Given the description of an element on the screen output the (x, y) to click on. 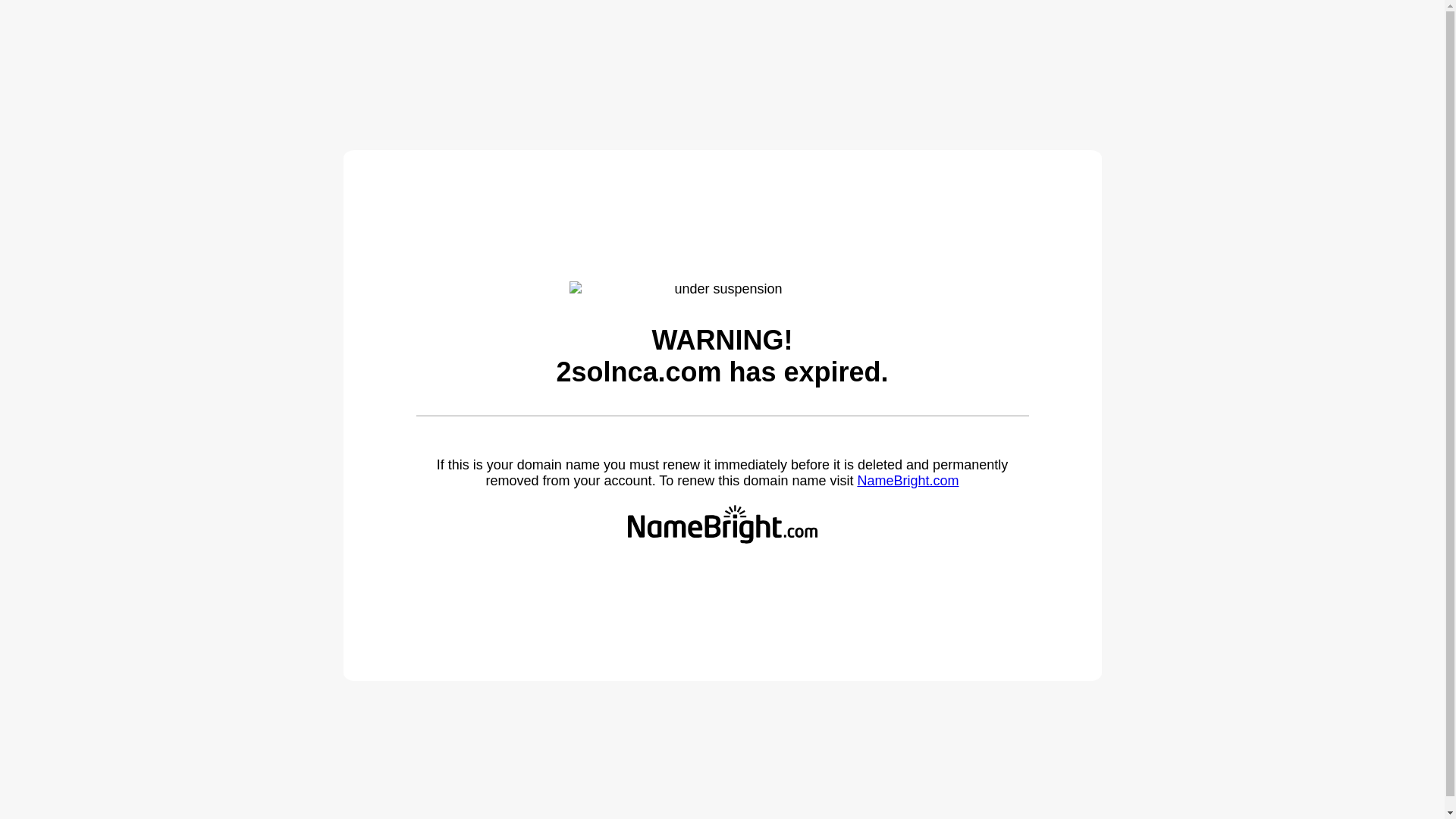
NameBright.com Element type: text (907, 480)
